Given the description of an element on the screen output the (x, y) to click on. 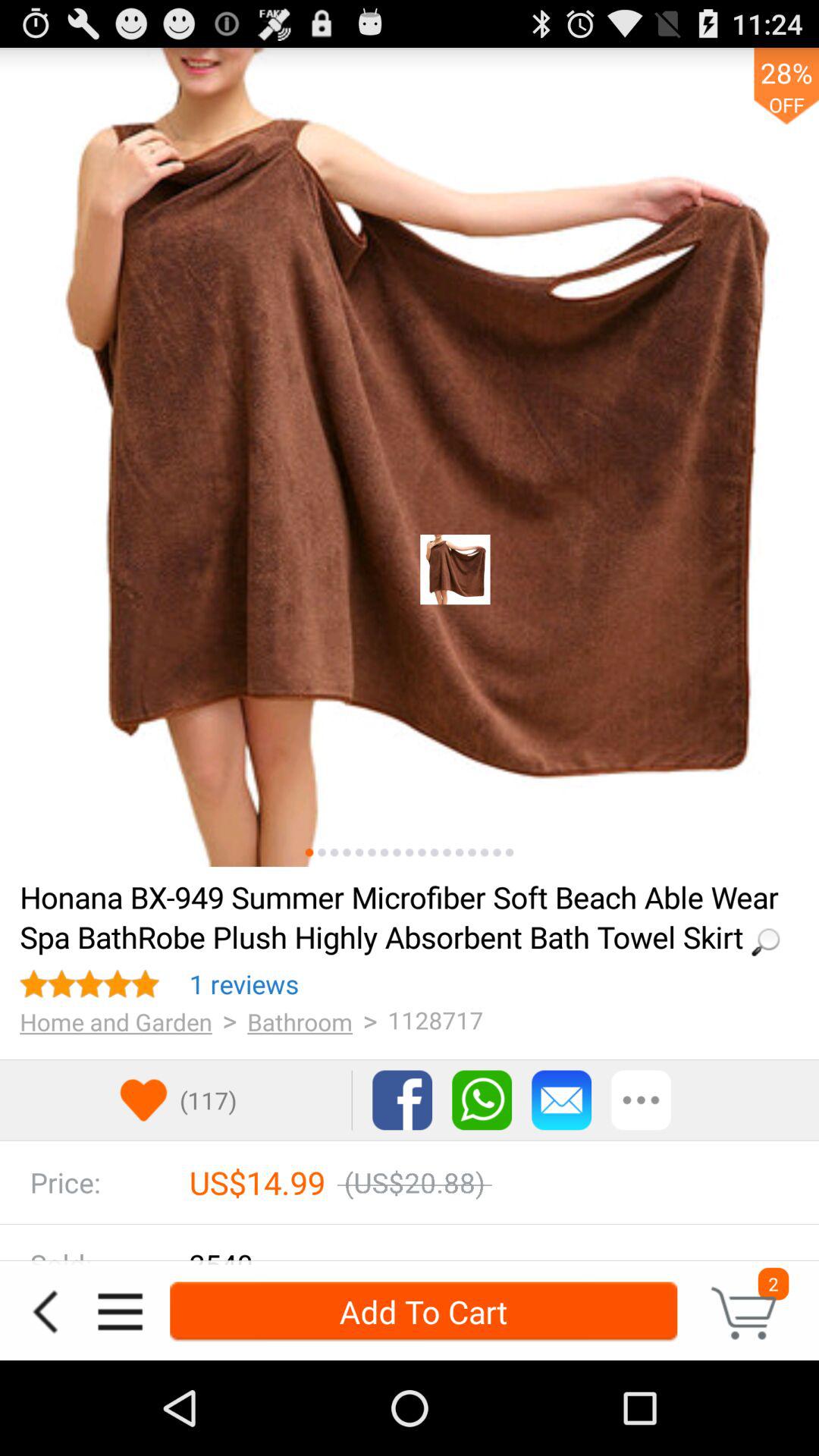
open icon above the loading... (371, 852)
